Given the description of an element on the screen output the (x, y) to click on. 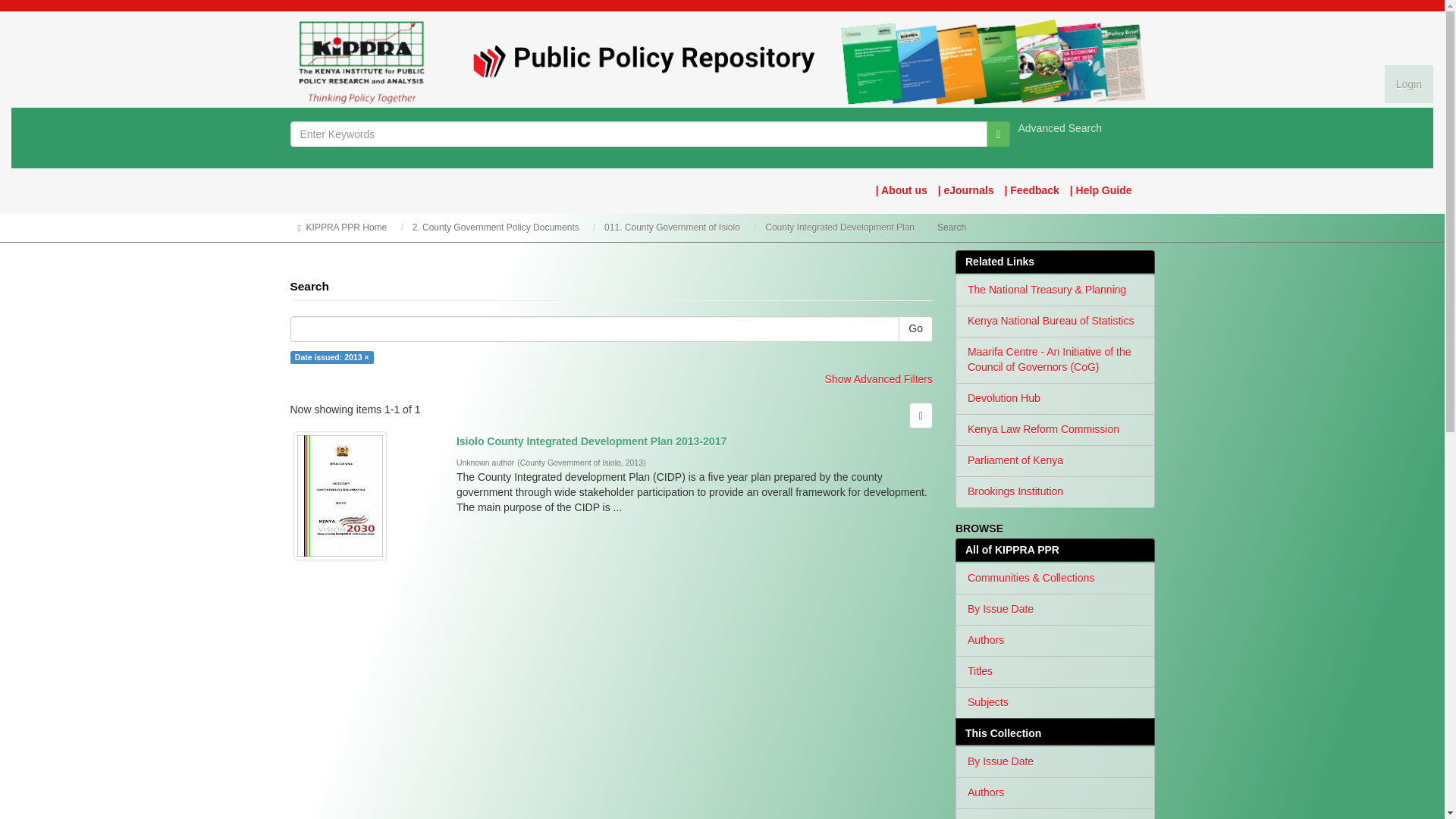
Go (915, 329)
Login (1408, 84)
2. County Government Policy Documents (495, 226)
Show Advanced Filters (879, 378)
KIPPRA PPR Home (346, 226)
County Integrated Development Plan (839, 226)
011. County Government of Isiolo (671, 226)
Advanced Search (1059, 128)
Go (998, 134)
